Given the description of an element on the screen output the (x, y) to click on. 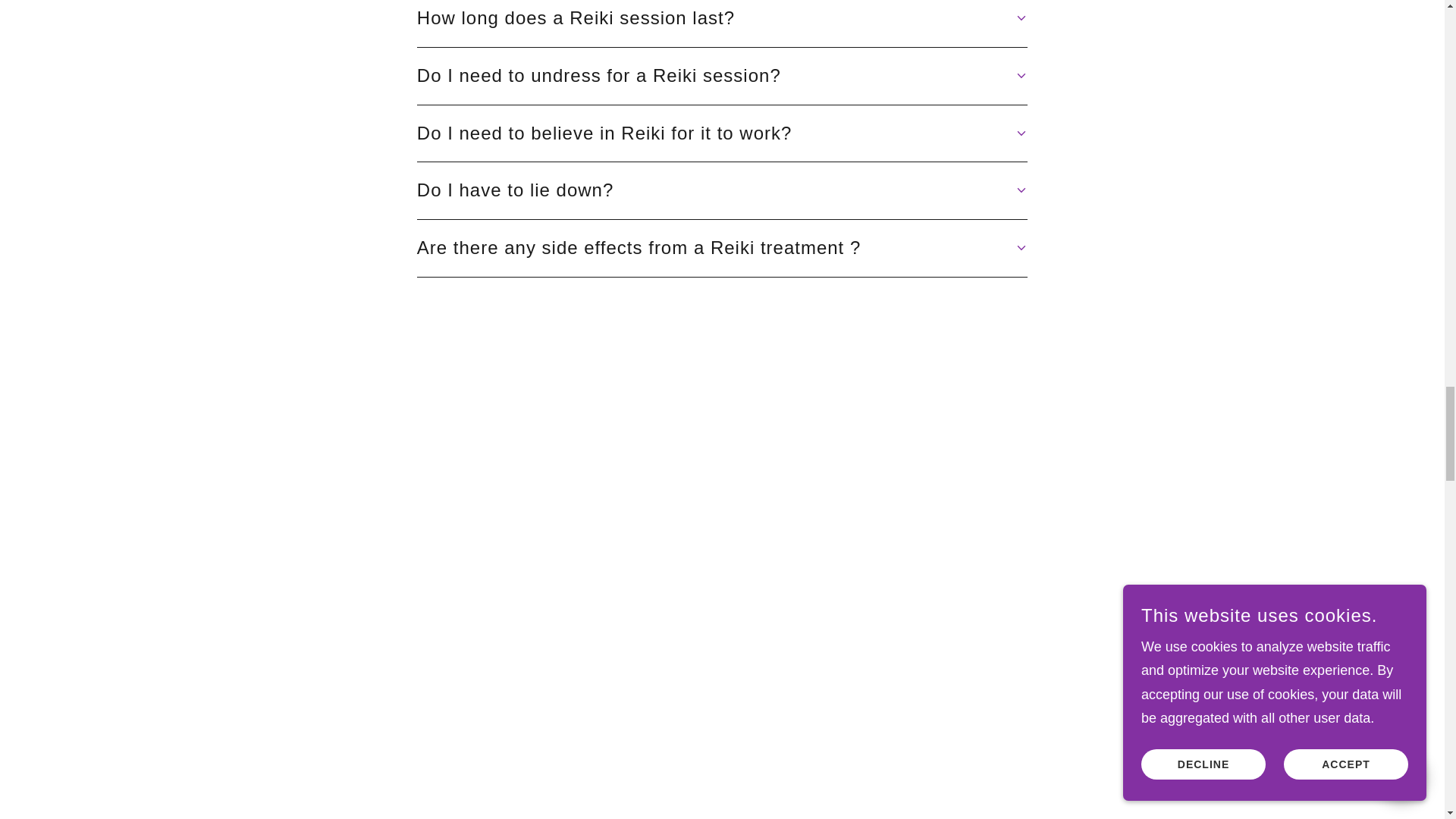
Do I need to undress for a Reiki session? (721, 75)
Do I need to believe in Reiki for it to work? (721, 133)
Are there any side effects from a Reiki treatment ? (721, 248)
Do I have to lie down? (721, 190)
How long does a Reiki session last? (721, 18)
